Given the description of an element on the screen output the (x, y) to click on. 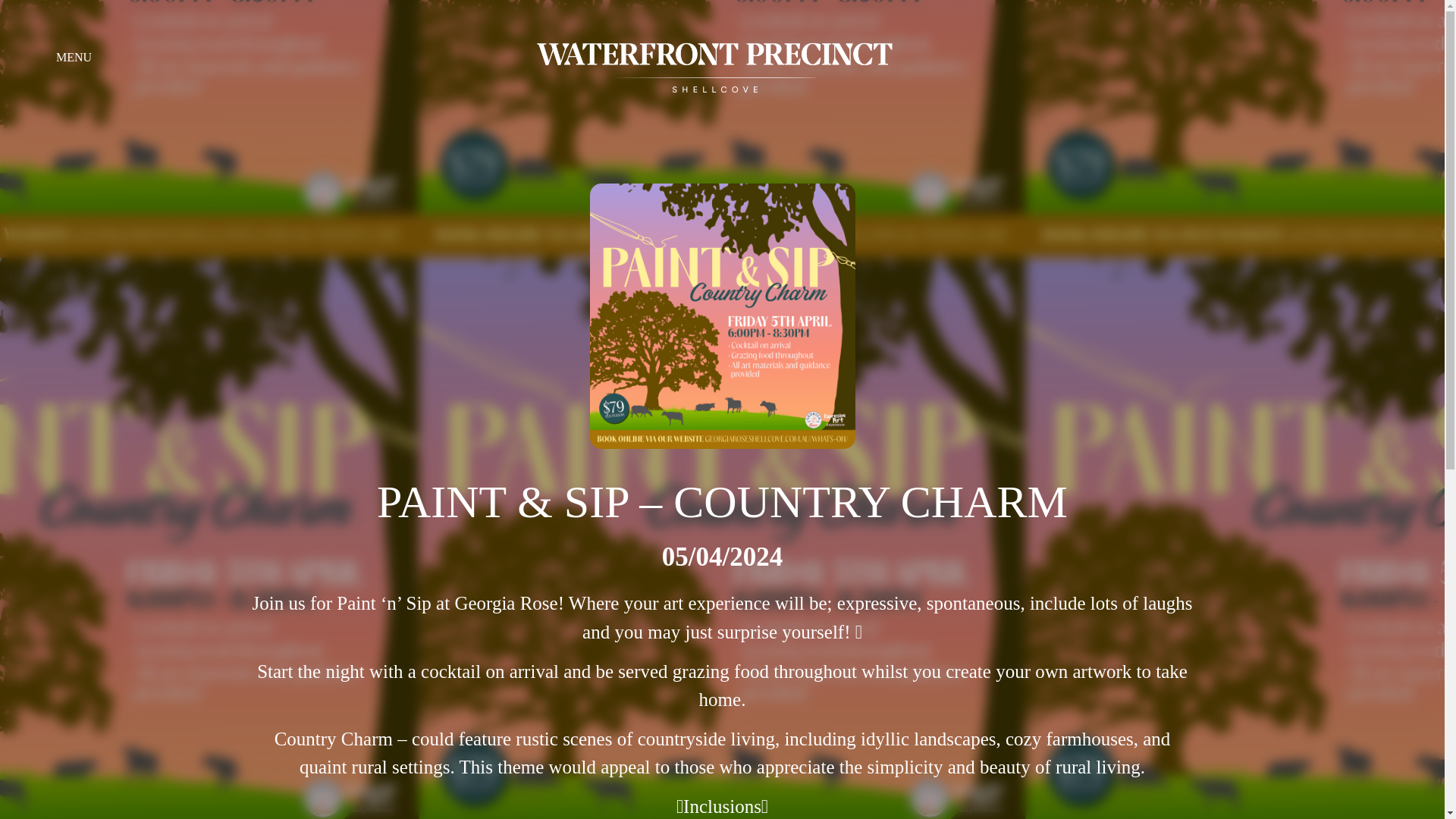
MENU (73, 57)
